Given the description of an element on the screen output the (x, y) to click on. 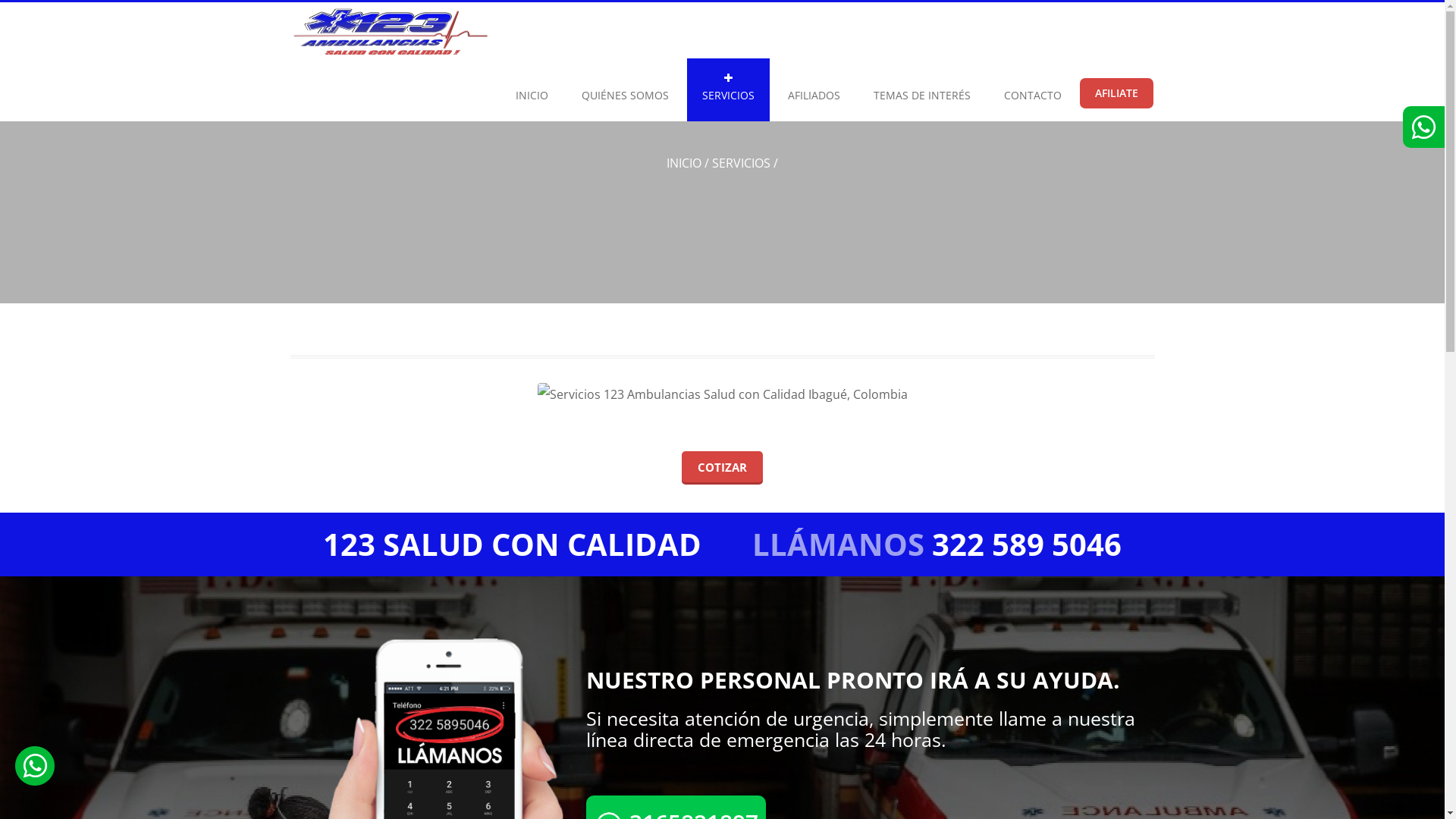
322 589 5046 Element type: text (1026, 543)
AFILIATE Element type: text (1116, 93)
SERVICIOS Element type: text (728, 89)
AFILIADOS Element type: text (812, 89)
Llamar Ahora Element type: hover (425, 806)
CONTACTO Element type: text (1032, 89)
INICIO Element type: text (683, 162)
INICIO Element type: text (531, 89)
COTIZAR Element type: text (721, 466)
